Given the description of an element on the screen output the (x, y) to click on. 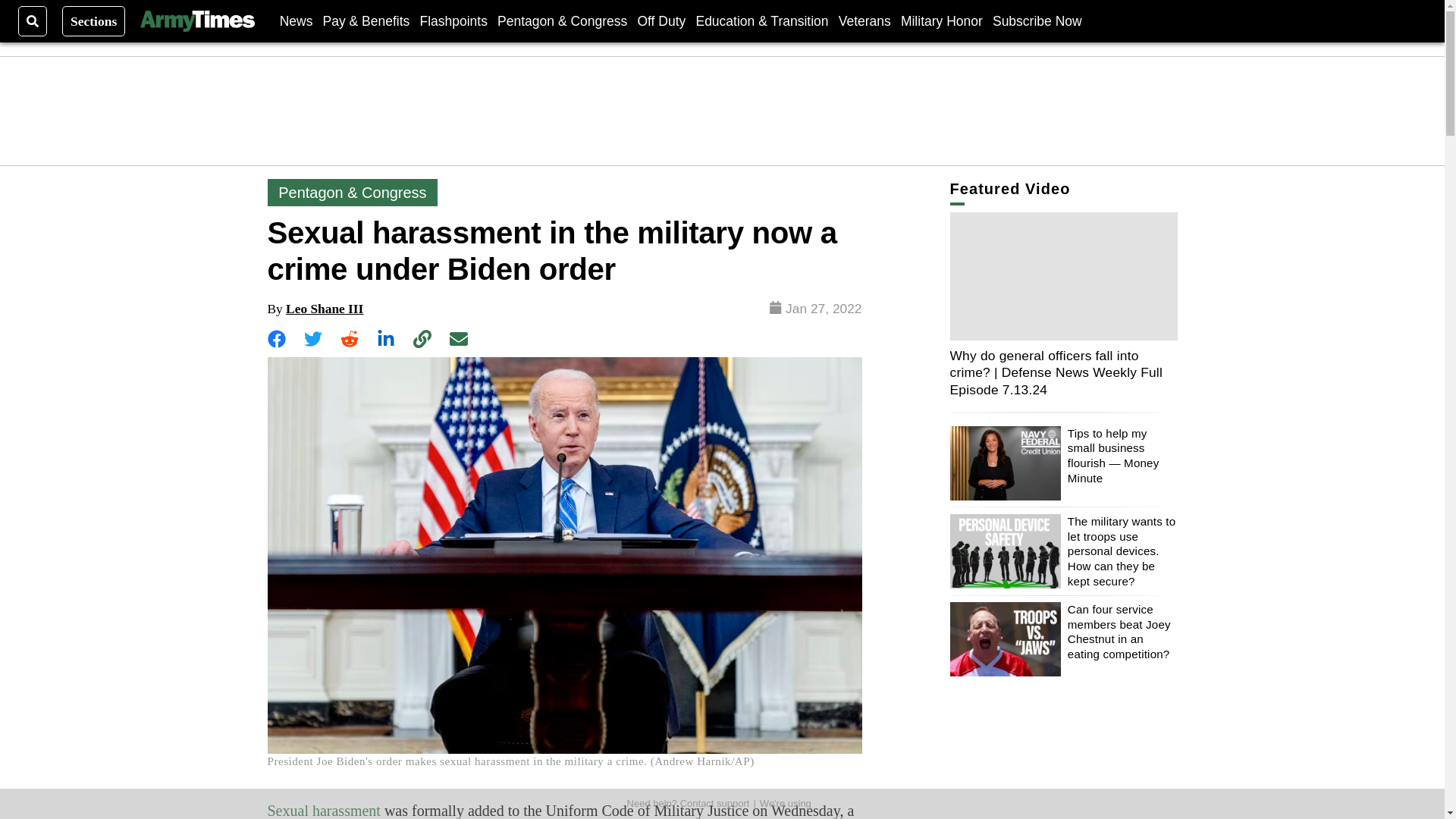
Sections (93, 20)
Flashpoints (453, 20)
Off Duty (661, 20)
3rd party ad content (722, 110)
Army Times Logo (196, 20)
Veterans (864, 20)
News (296, 20)
Military Honor (941, 20)
